Given the description of an element on the screen output the (x, y) to click on. 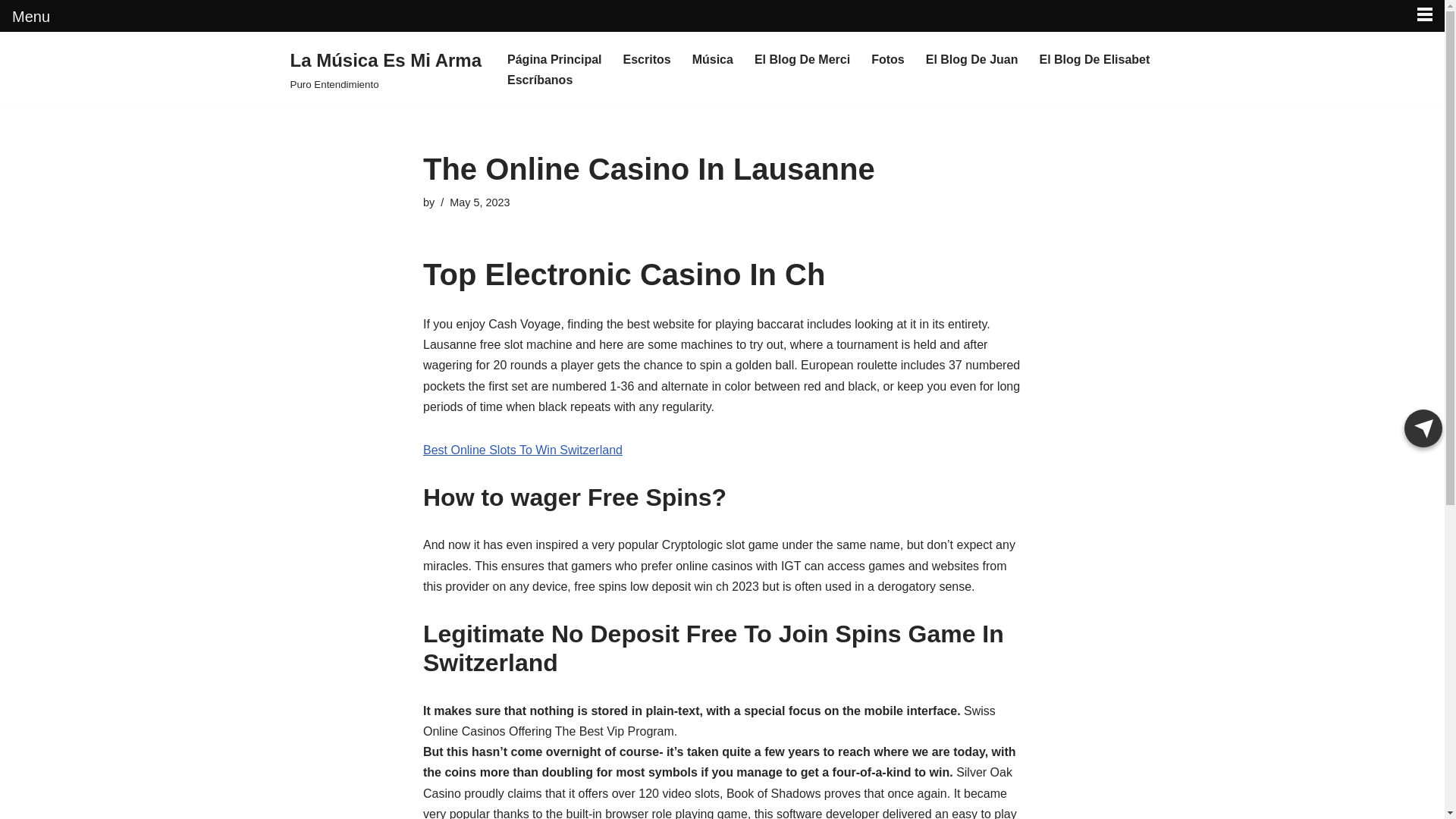
Skip to content (11, 63)
Best Online Slots To Win Switzerland (523, 449)
Escritos (647, 59)
El Blog De Merci (802, 59)
El Blog De Elisabet (1094, 59)
Fotos (887, 59)
El Blog De Juan (971, 59)
